Given the description of an element on the screen output the (x, y) to click on. 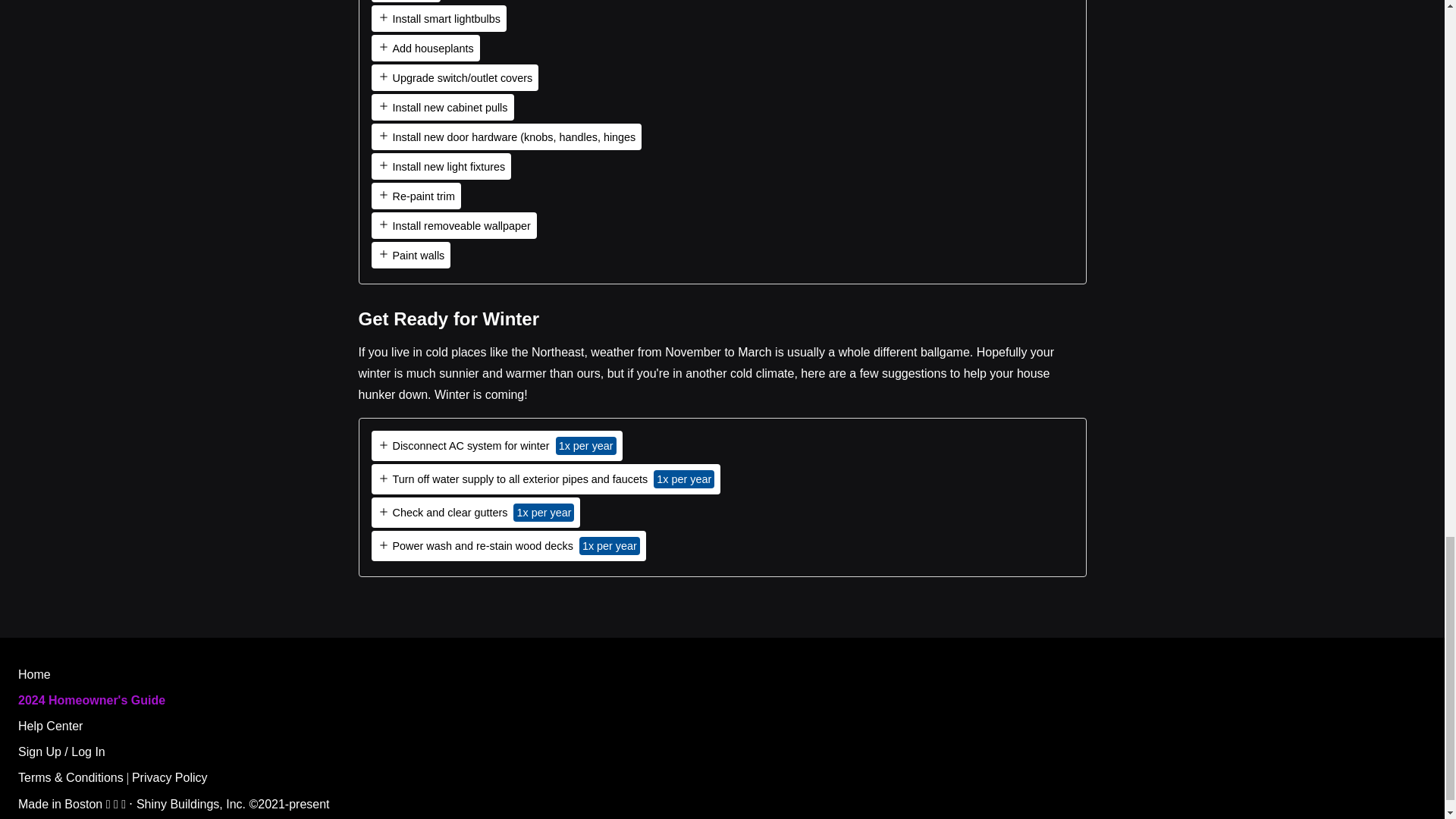
Home (33, 674)
Privacy Policy (170, 777)
Help Center (49, 725)
2024 Homeowner's Guide (91, 699)
